Given the description of an element on the screen output the (x, y) to click on. 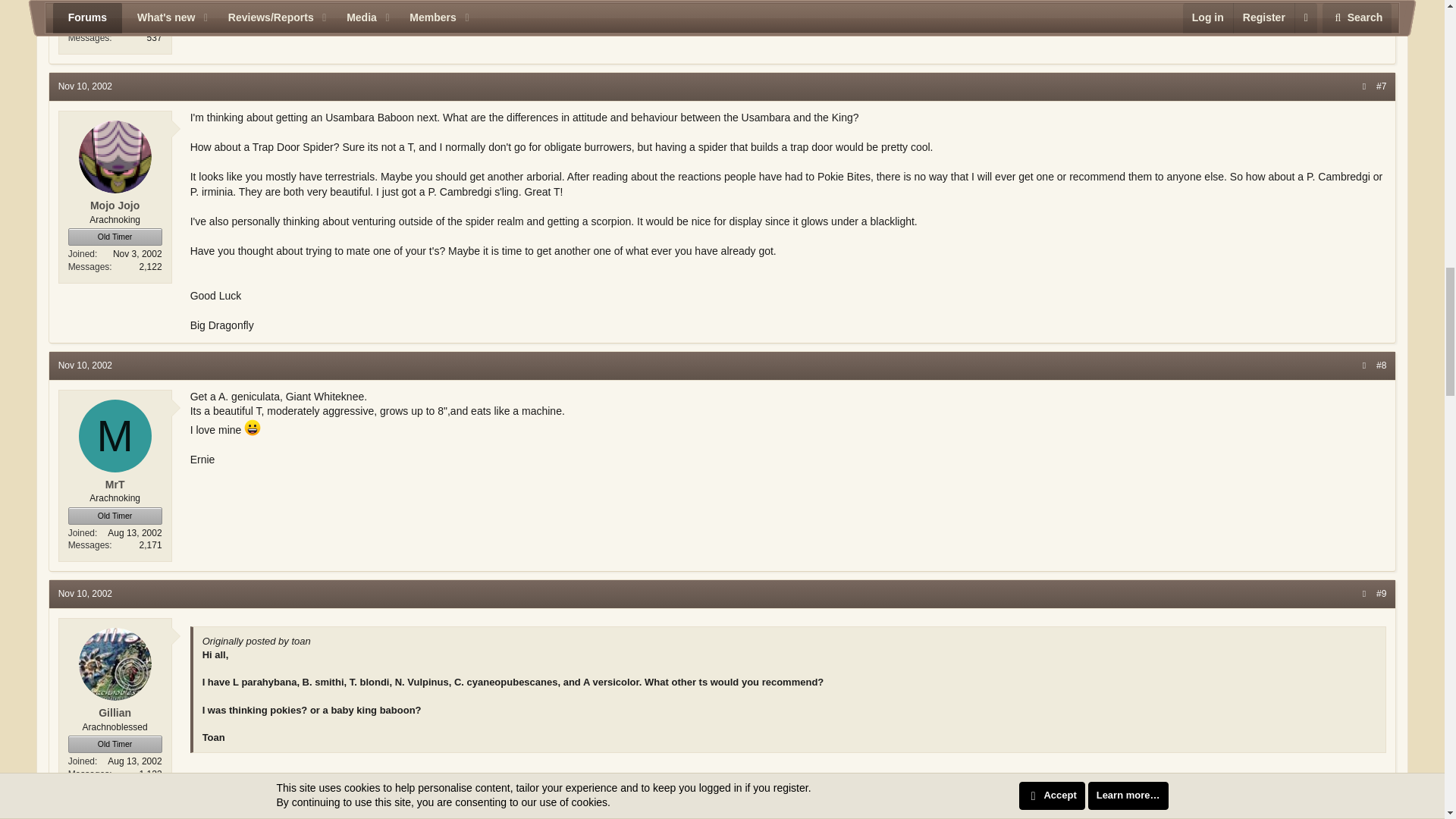
Nov 10, 2002 at 12:47 PM (85, 365)
Big Grin    :D (252, 427)
Nov 10, 2002 at 12:43 PM (85, 86)
Nov 10, 2002 at 12:59 PM (85, 593)
